Given the description of an element on the screen output the (x, y) to click on. 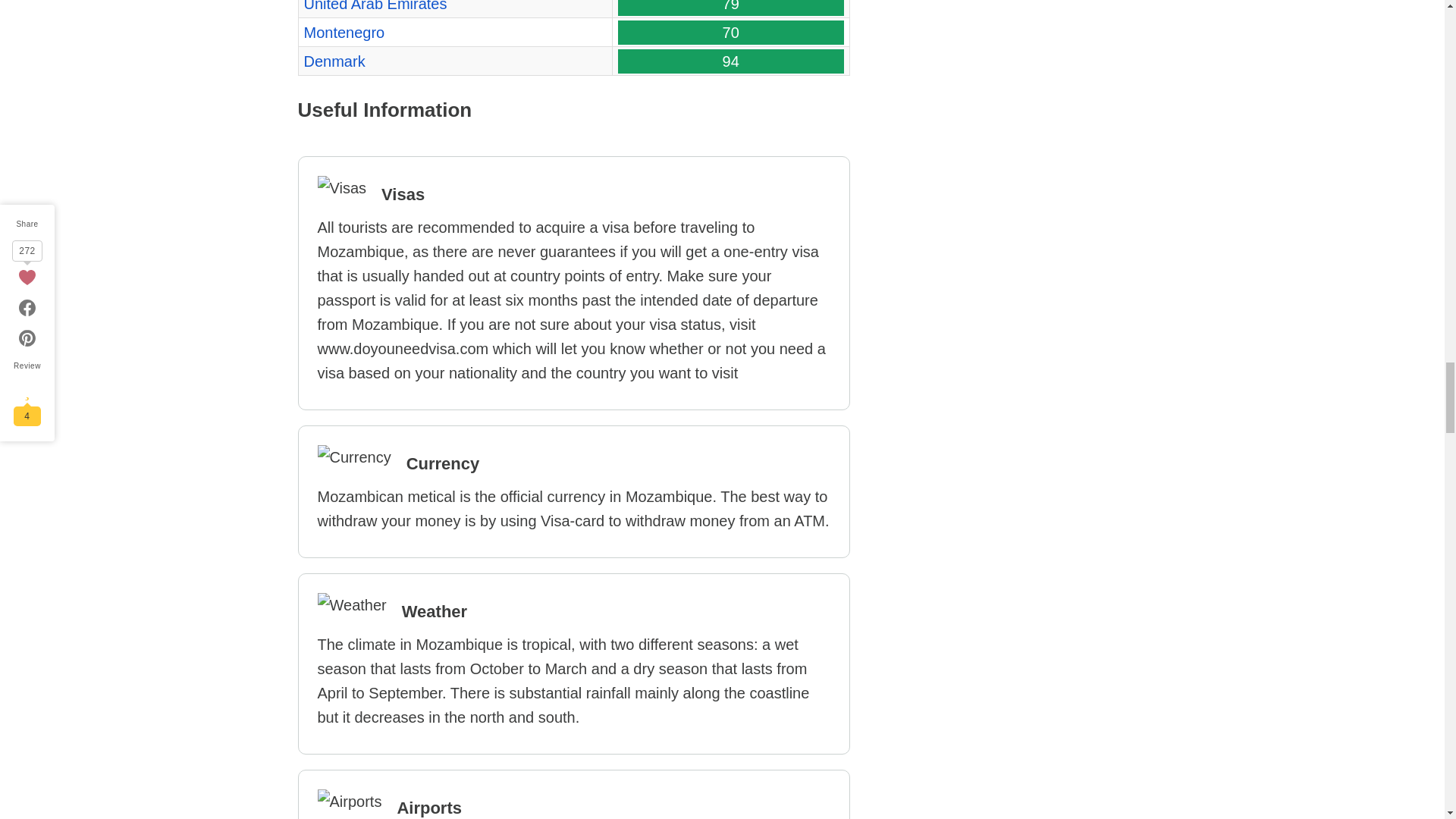
Denmark Safety Review (333, 61)
Montenegro Safety Review (343, 32)
Montenegro (343, 32)
Denmark (333, 61)
United Arab Emirates Safety Review (374, 6)
United Arab Emirates (374, 6)
